Given the description of an element on the screen output the (x, y) to click on. 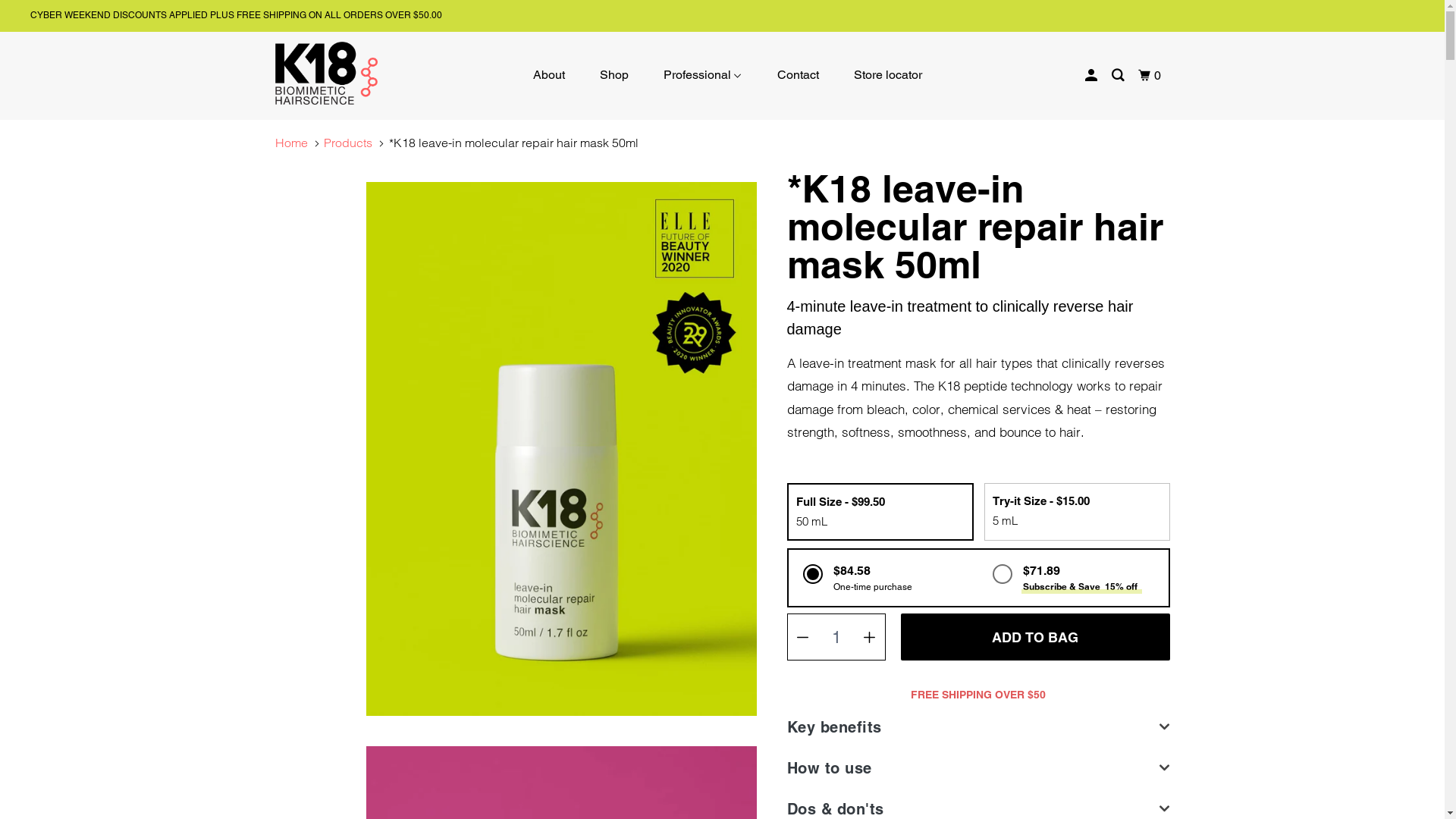
My Account  Element type: hover (1092, 75)
Full Size - $99.50
50 mL Element type: text (880, 511)
K18 Australia Element type: hover (351, 72)
Products Element type: text (347, 142)
Contact Element type: text (798, 74)
0 Element type: text (1151, 75)
About Element type: text (548, 74)
Try-it Size - $15.00
5 mL Element type: text (1076, 510)
Home Element type: text (290, 142)
Search Element type: hover (1118, 75)
Store locator Element type: text (887, 74)
Shop Element type: text (613, 74)
Professional Element type: text (702, 74)
ADD TO BAG Element type: text (1035, 636)
